Given the description of an element on the screen output the (x, y) to click on. 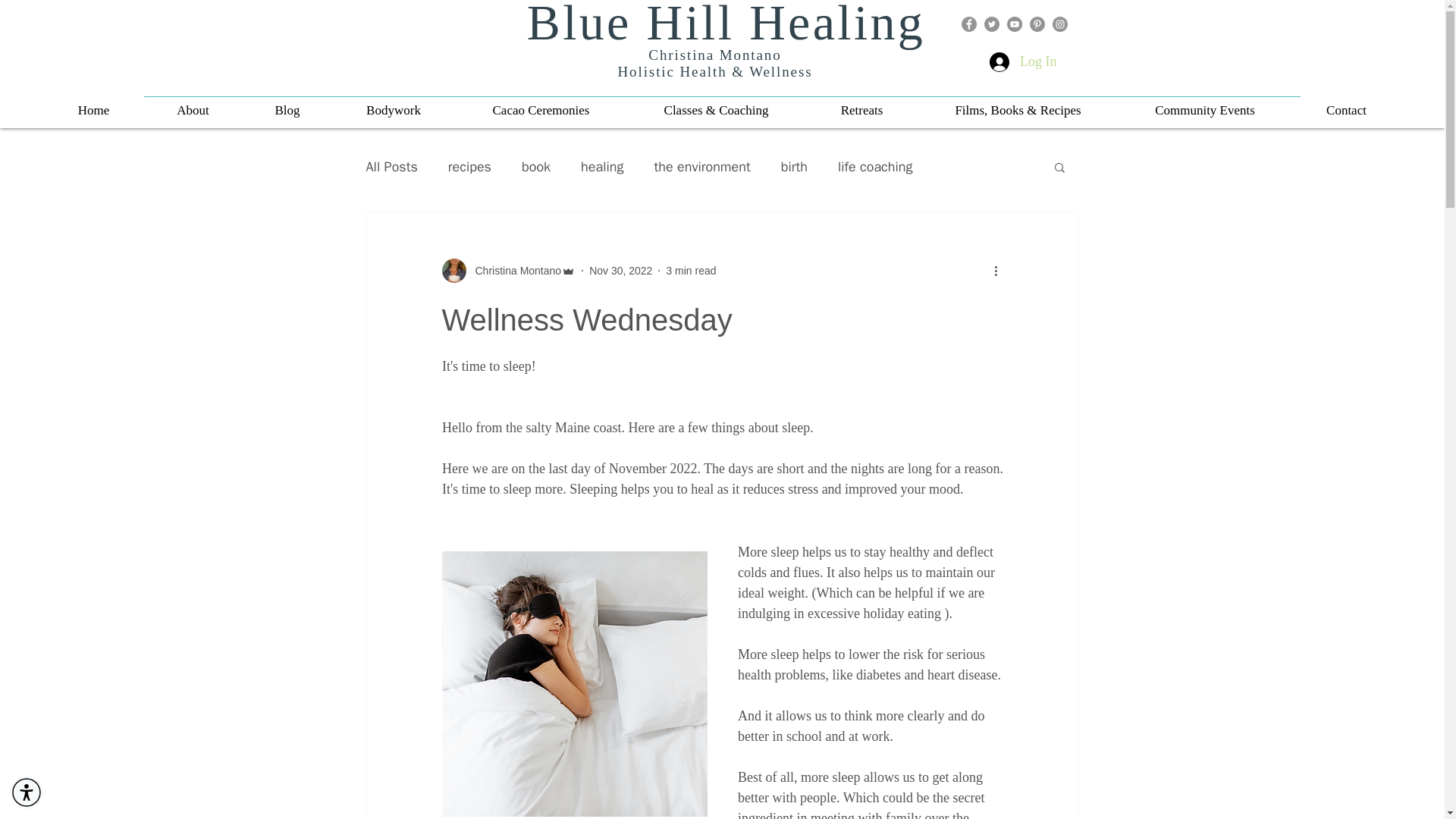
Accessibility Menu (26, 792)
Blue Hill Healing (725, 24)
life coaching (875, 167)
the environment (702, 167)
Christina Montano (508, 270)
recipes (470, 167)
Contact (1346, 110)
birth (794, 167)
Community Events (1205, 110)
healing (601, 167)
Log In (1022, 61)
Home (92, 110)
Christina Montano (512, 270)
3 min read (690, 269)
Cacao Ceremonies (540, 110)
